Given the description of an element on the screen output the (x, y) to click on. 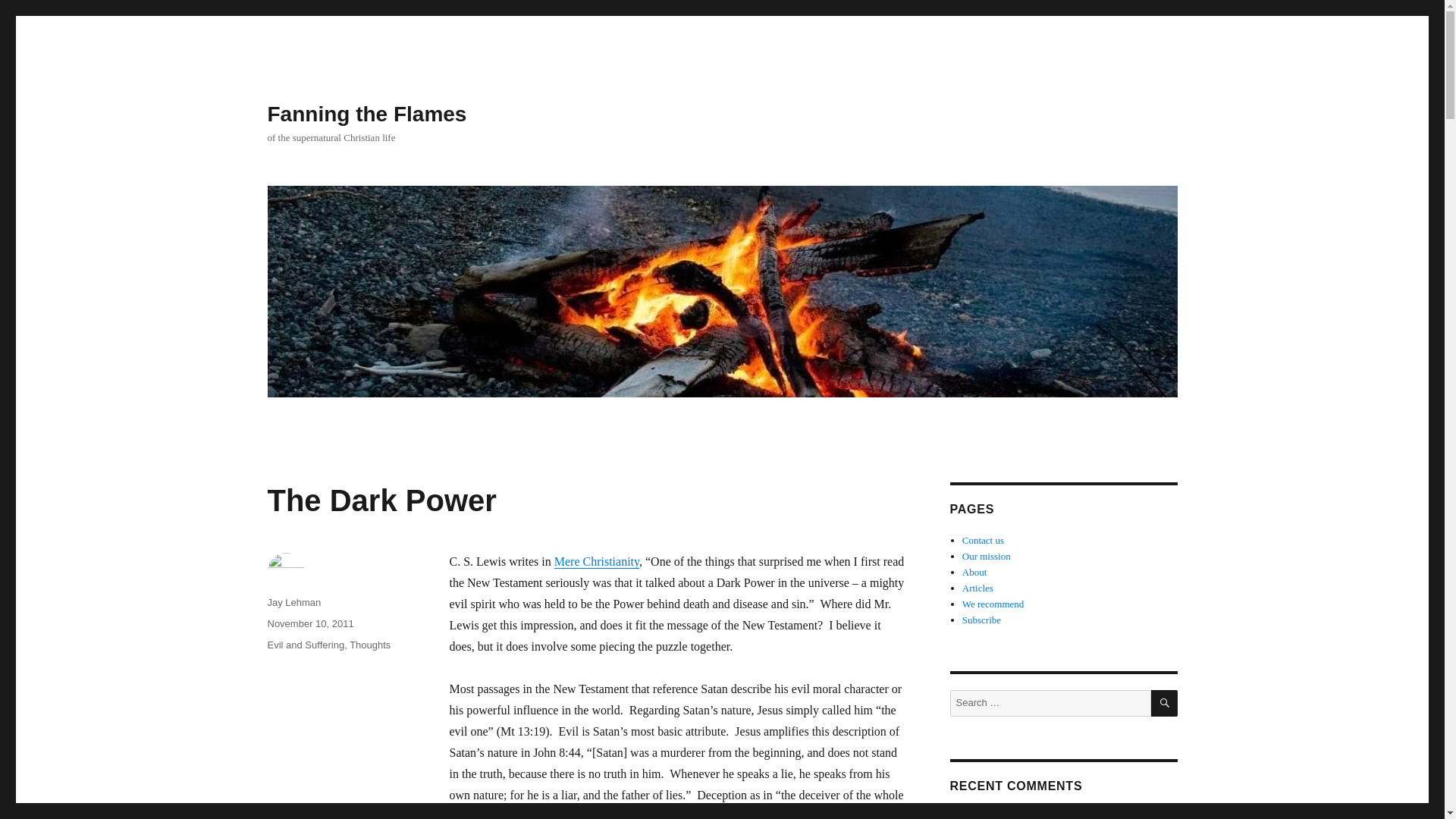
November 10, 2011 (309, 623)
SEARCH (1164, 703)
Thoughts (369, 644)
About (974, 572)
Contact us (983, 540)
Jay Lehman (293, 602)
Subscribe (981, 619)
Our mission (986, 555)
The End of the Old Covenant (1107, 815)
Evil and Suffering (304, 644)
